Given the description of an element on the screen output the (x, y) to click on. 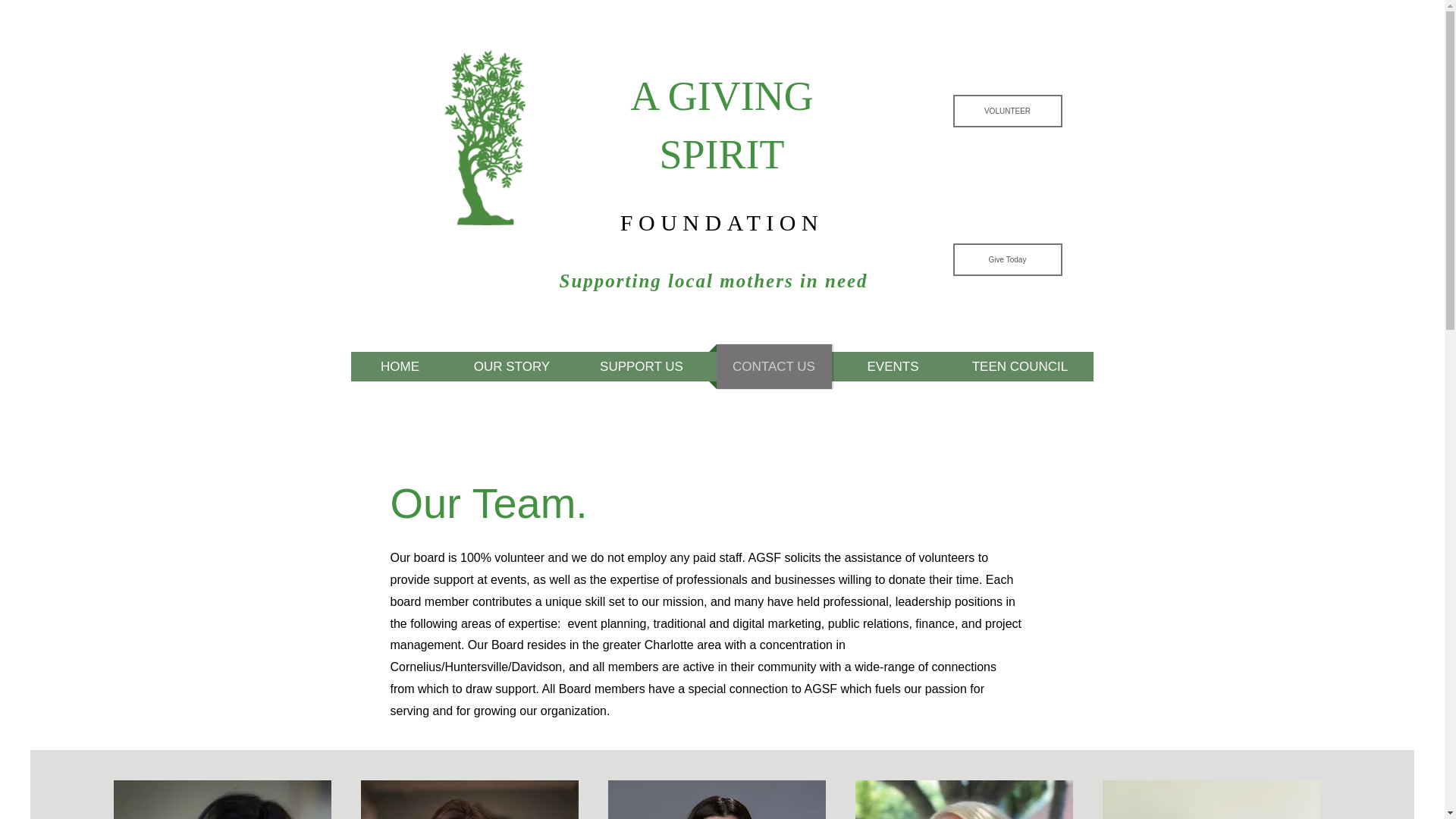
FOUNDATION (722, 222)
A GIVING SPIRIT (721, 124)
HOME (400, 366)
VOLUNTEER (1006, 111)
Give Today (1006, 259)
EVENTS (893, 366)
SUPPORT US (641, 366)
OUR STORY (510, 366)
CONTACT US (772, 366)
TEEN COUNCIL (1019, 366)
